Given the description of an element on the screen output the (x, y) to click on. 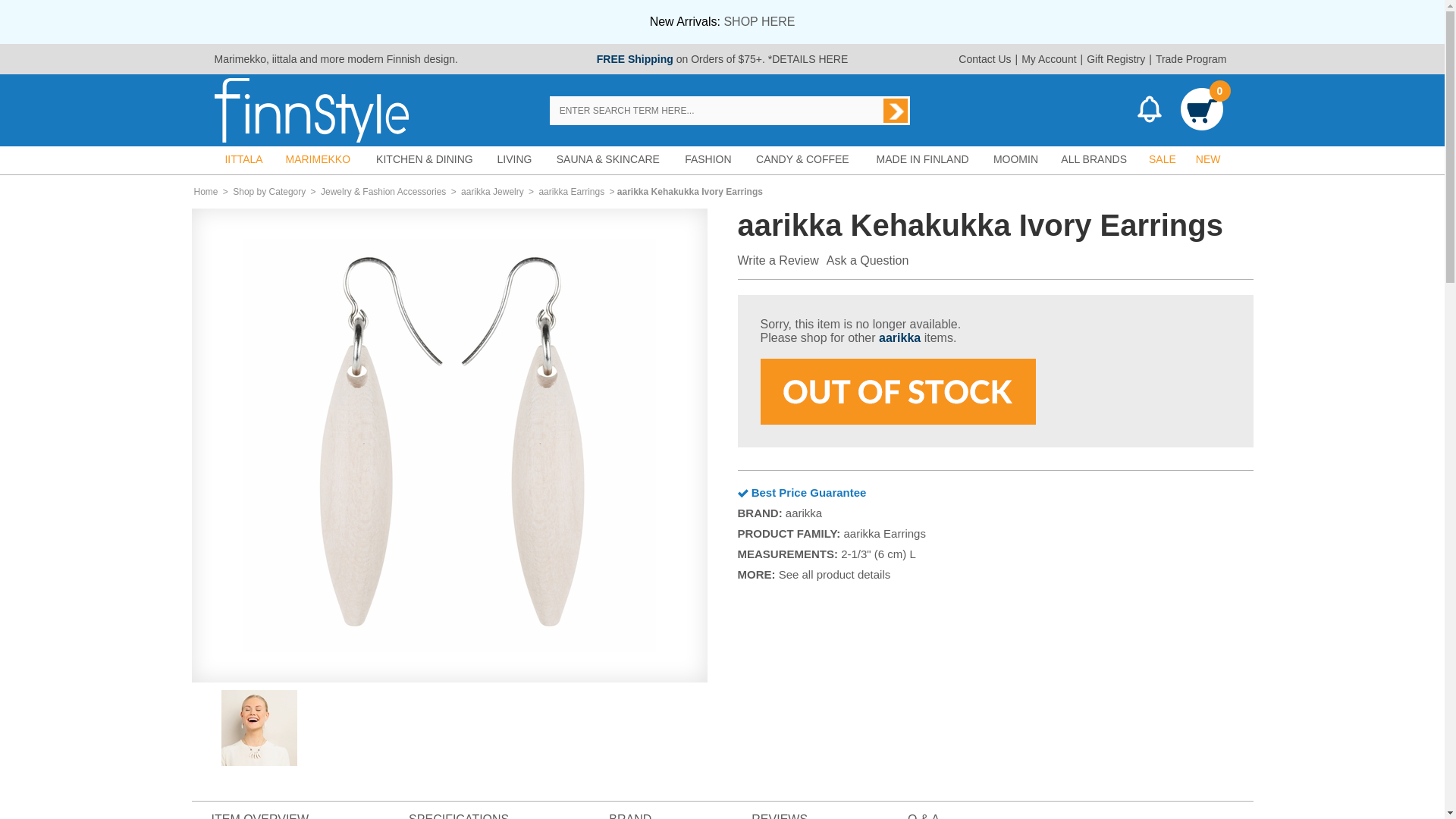
FASHION (708, 159)
Marimekko (239, 59)
MARIMEKKO (318, 159)
MOOMIN (1016, 159)
Trade Program (1190, 59)
SALE (1162, 159)
Gift Registry (1115, 59)
0 (1201, 110)
Contact Us (984, 59)
IITTALA (242, 159)
